Given the description of an element on the screen output the (x, y) to click on. 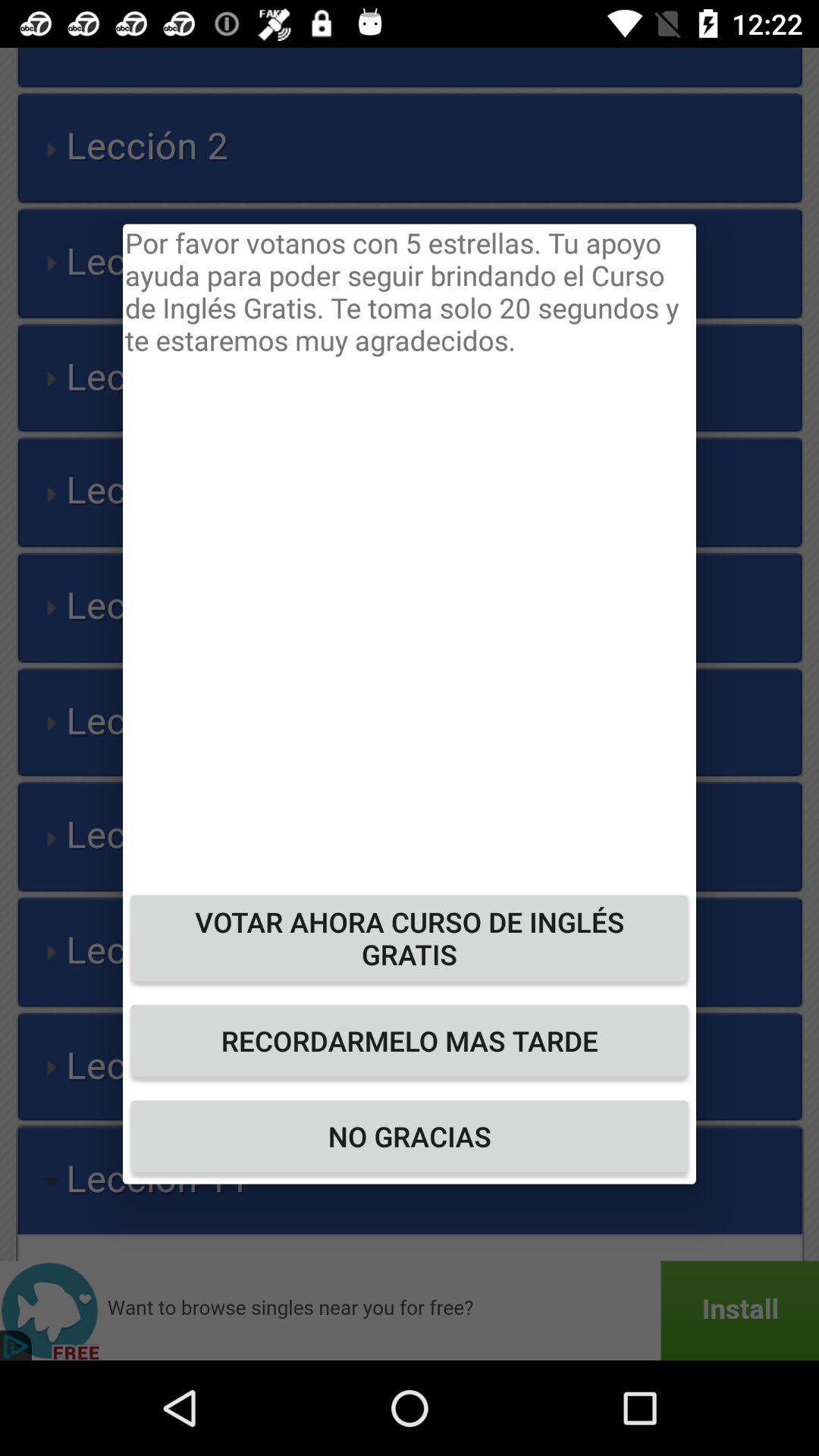
open the item below votar ahora curso (409, 1040)
